Given the description of an element on the screen output the (x, y) to click on. 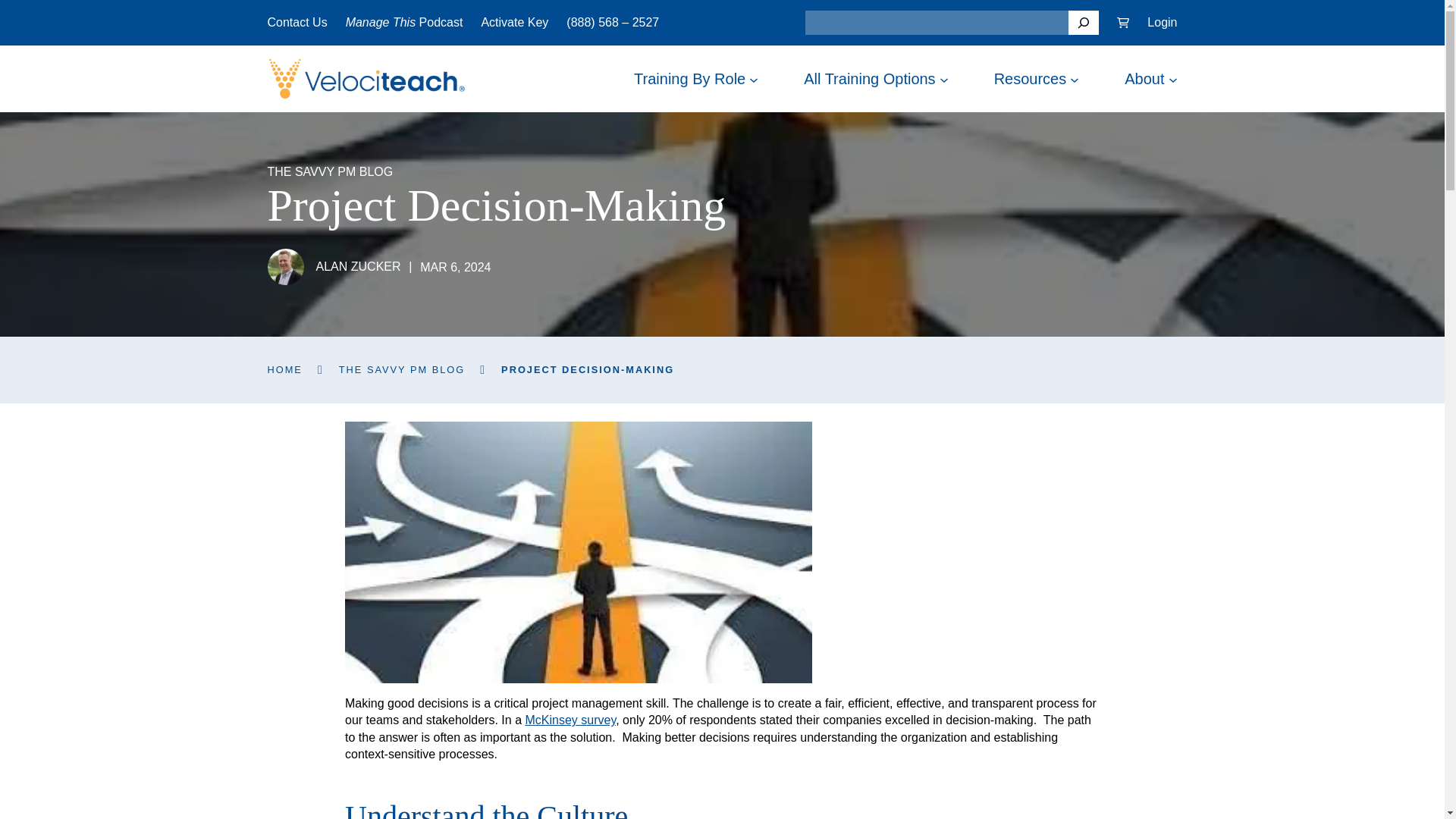
Cart (1122, 22)
Training By Role (689, 78)
Activate Key (514, 22)
Manage This Podcast (404, 22)
Login (1161, 22)
Resources (1030, 78)
Contact Us (296, 22)
All Training Options (868, 78)
